Given the description of an element on the screen output the (x, y) to click on. 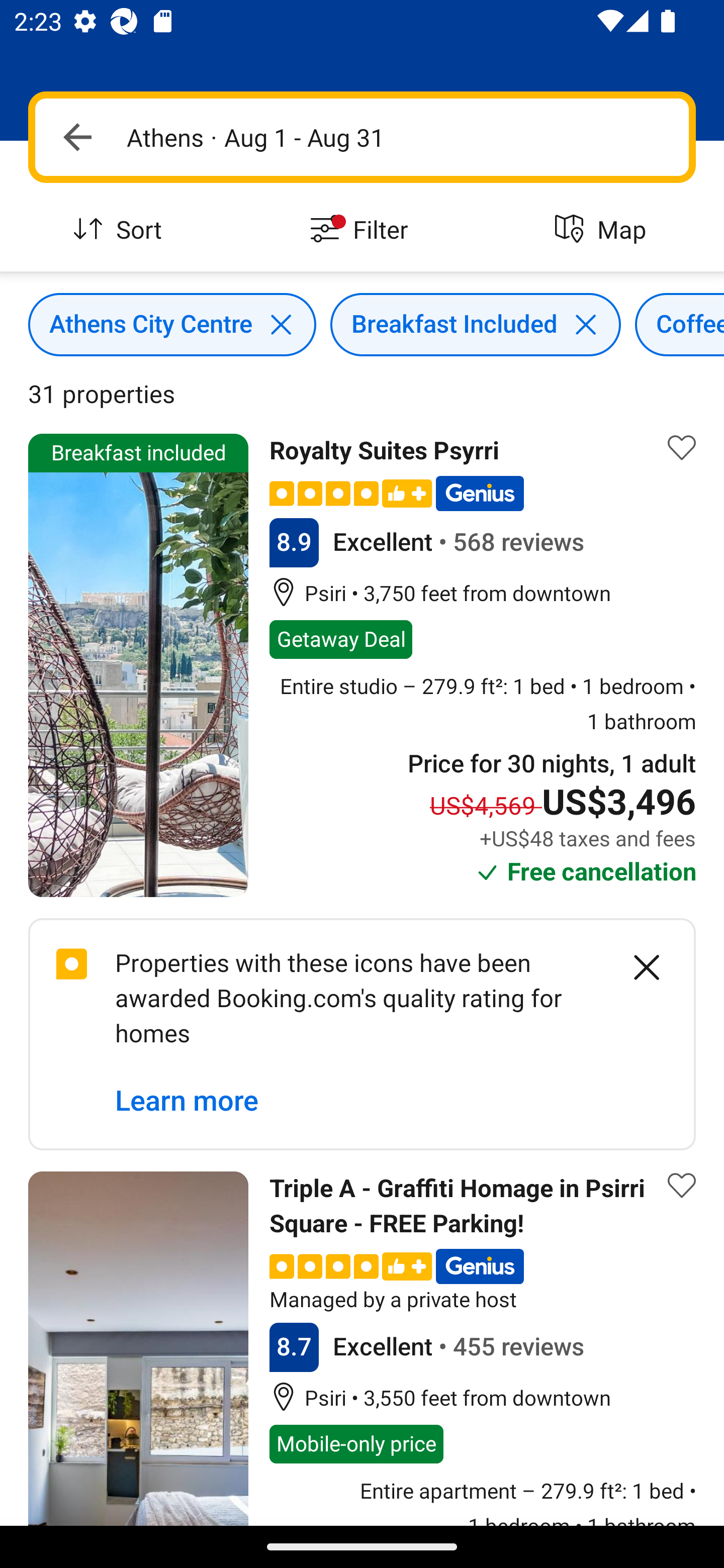
Navigate up Athens · Aug 1 - Aug 31 (362, 136)
Navigate up (77, 136)
Sort (120, 230)
Filter (361, 230)
Map (603, 230)
Save property to list (681, 447)
Clear (635, 967)
Learn more (187, 1100)
Save property to list (681, 1185)
